Given the description of an element on the screen output the (x, y) to click on. 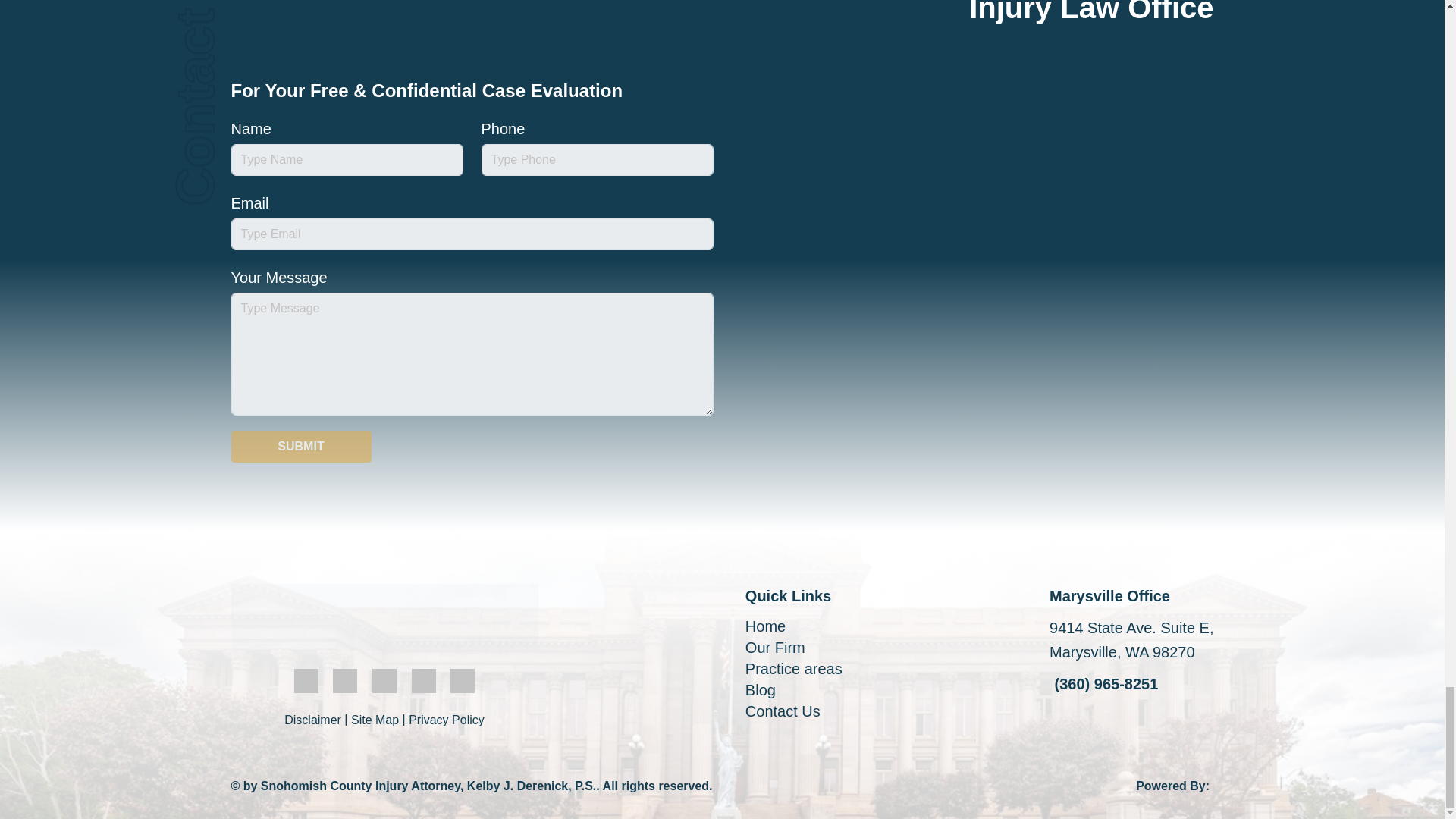
SUBMIT (300, 446)
